Given the description of an element on the screen output the (x, y) to click on. 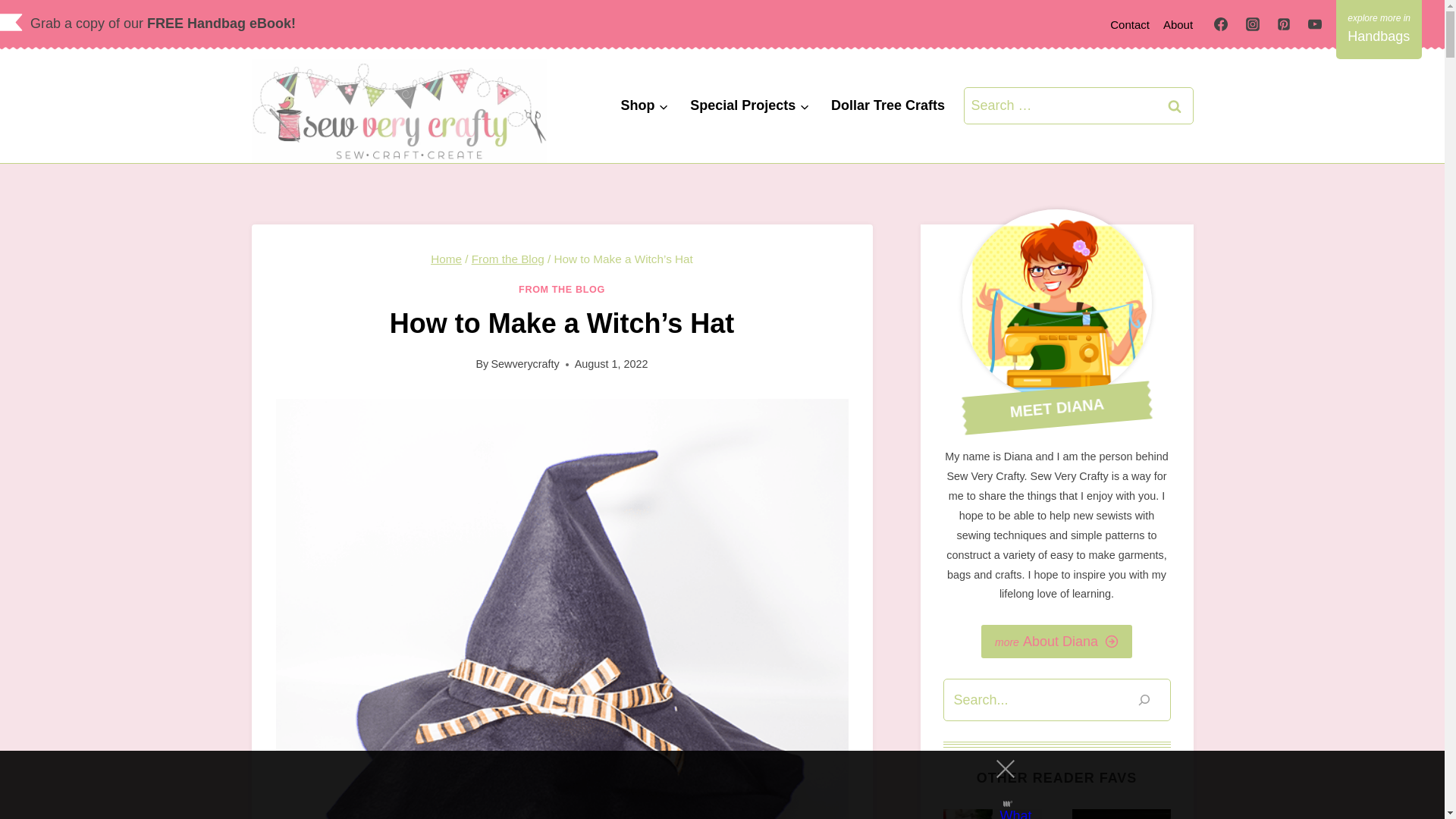
Shop (644, 105)
Special Projects (750, 105)
Home (445, 258)
Contact (1129, 24)
FROM THE BLOG (561, 289)
About (1177, 24)
Handbags (1379, 29)
From the Blog (507, 258)
Search (1174, 105)
Dollar Tree Crafts (888, 105)
Search (1174, 105)
Search (1174, 105)
Sewverycrafty (524, 363)
